Given the description of an element on the screen output the (x, y) to click on. 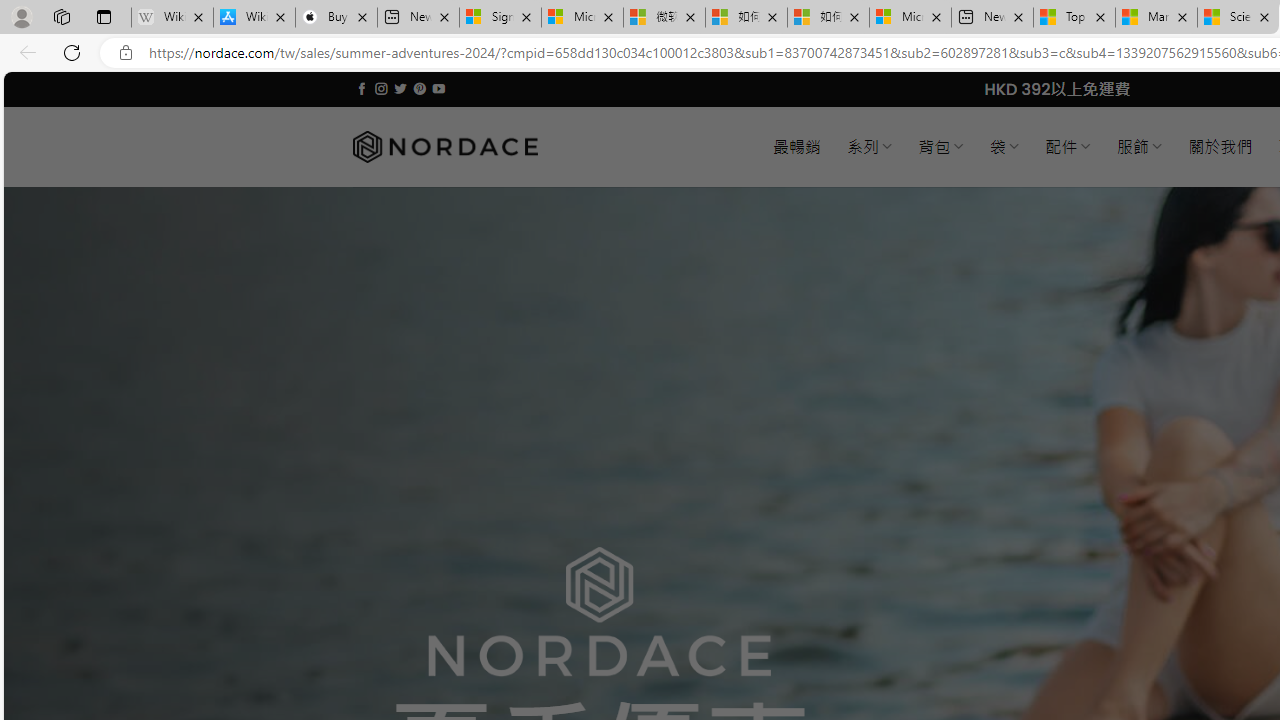
Follow on Facebook (361, 88)
Follow on Twitter (400, 88)
Buy iPad - Apple (336, 17)
